Given the description of an element on the screen output the (x, y) to click on. 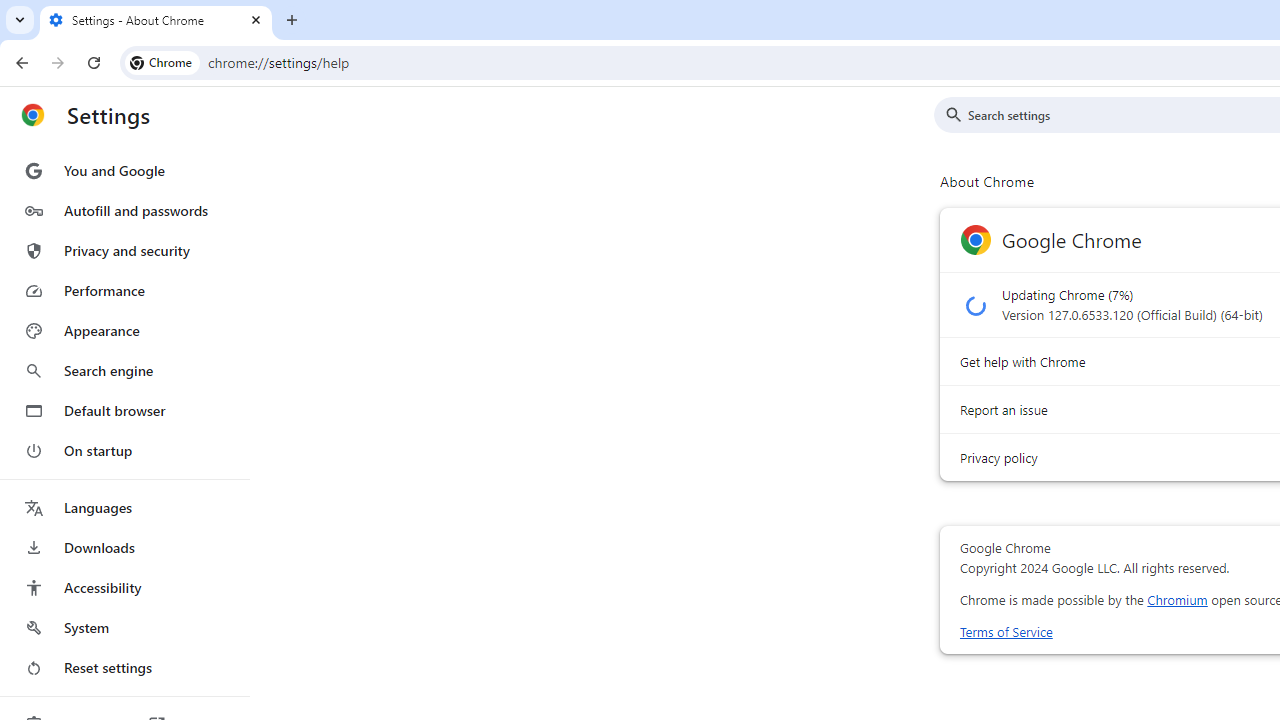
Appearance (124, 331)
Languages (124, 507)
Privacy and security (124, 250)
Accessibility (124, 587)
Performance (124, 290)
Autofill and passwords (124, 210)
On startup (124, 450)
